Given the description of an element on the screen output the (x, y) to click on. 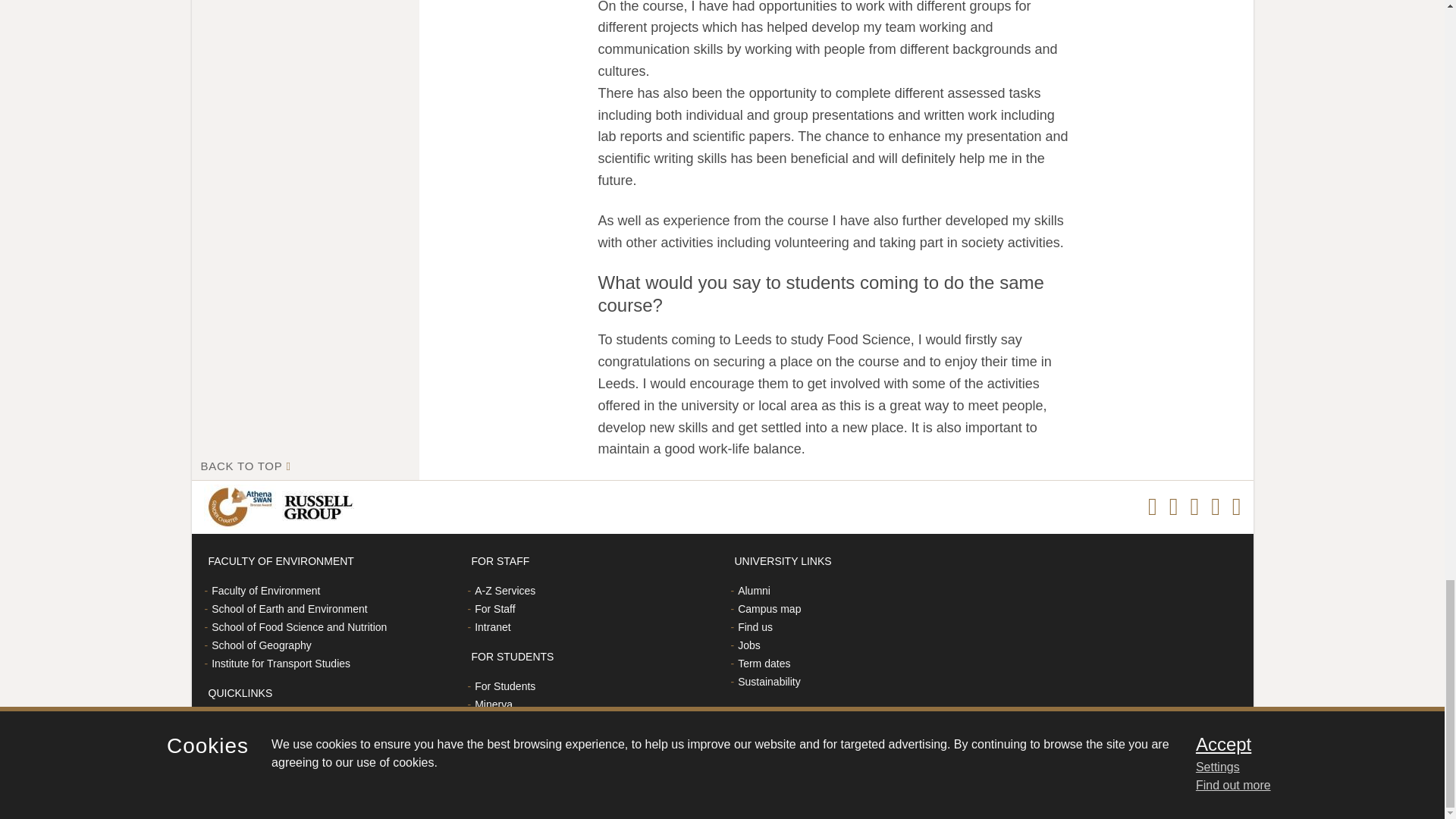
Visit Russell Group (320, 506)
Visit Athena SWAN Bronze award (242, 506)
